Given the description of an element on the screen output the (x, y) to click on. 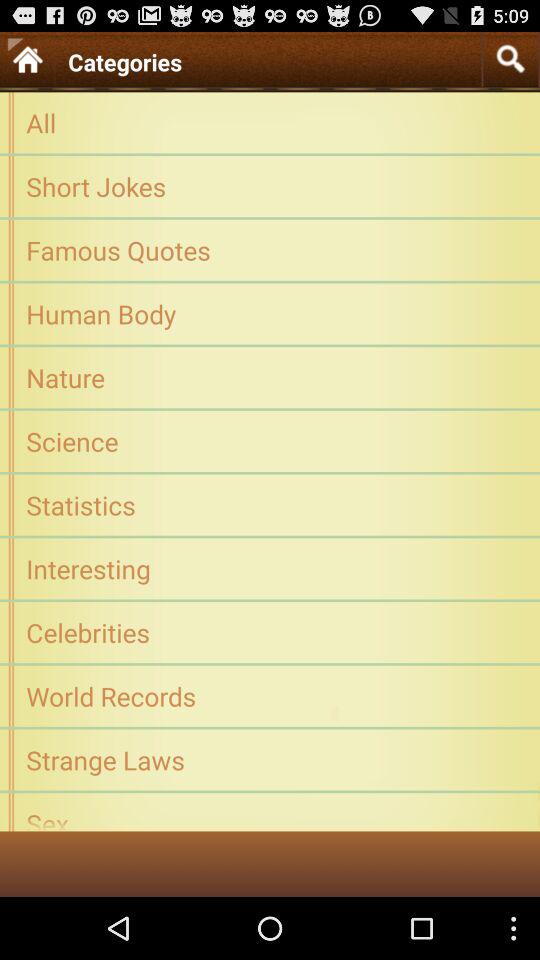
press world records icon (270, 695)
